Given the description of an element on the screen output the (x, y) to click on. 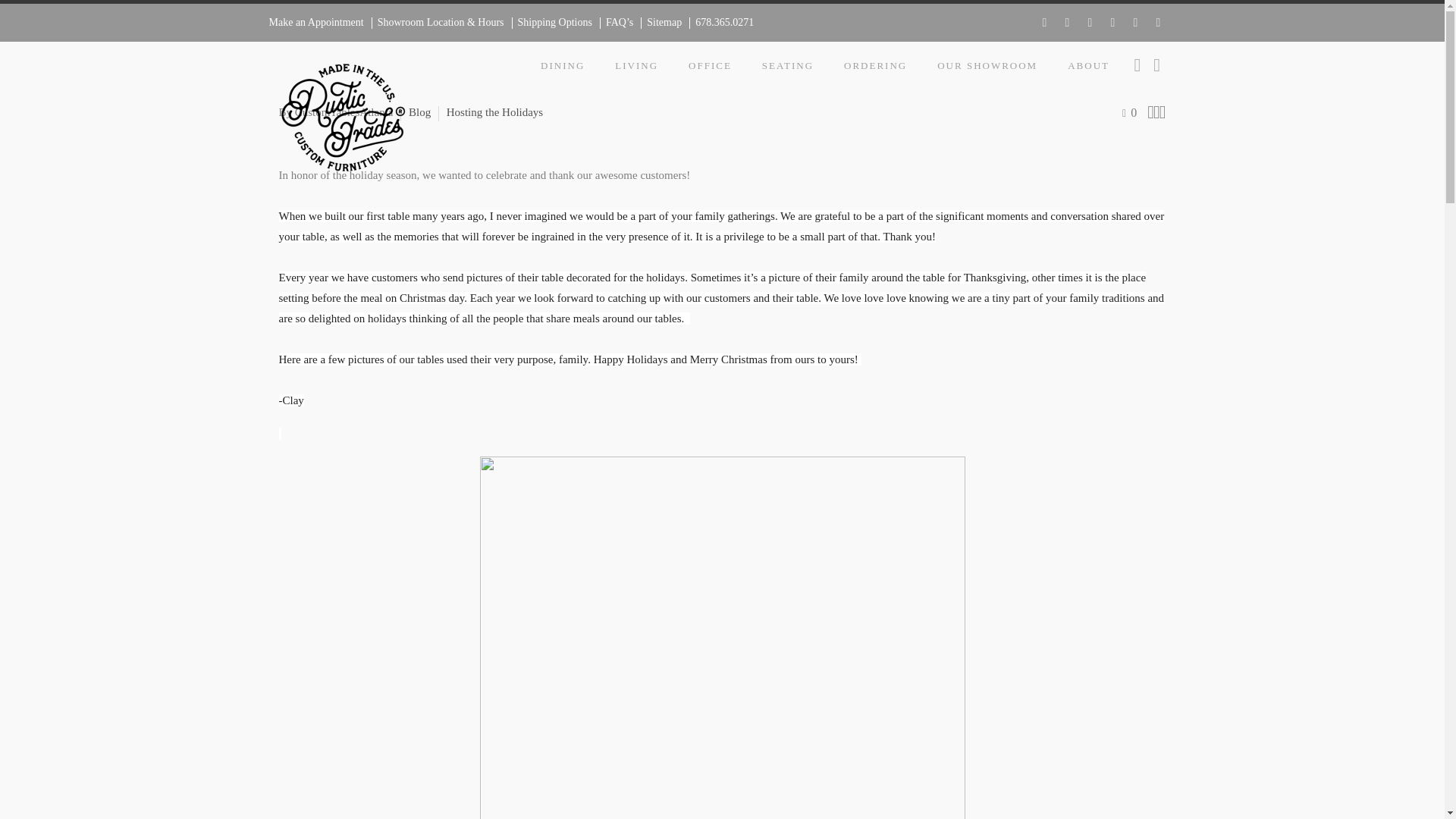
Shipping Options (552, 22)
Sitemap (660, 22)
Pinterest (1112, 22)
View all posts in Hosting the Holidays (494, 111)
Facebook (1043, 22)
Twitter (1066, 22)
Make an Appointment (314, 22)
Instagram (1089, 22)
LIVING (635, 65)
SEATING (787, 65)
678.365.0271 (721, 22)
OFFICE (709, 65)
DINING (562, 65)
Google Maps (1158, 22)
View all posts in Blog (419, 111)
